Given the description of an element on the screen output the (x, y) to click on. 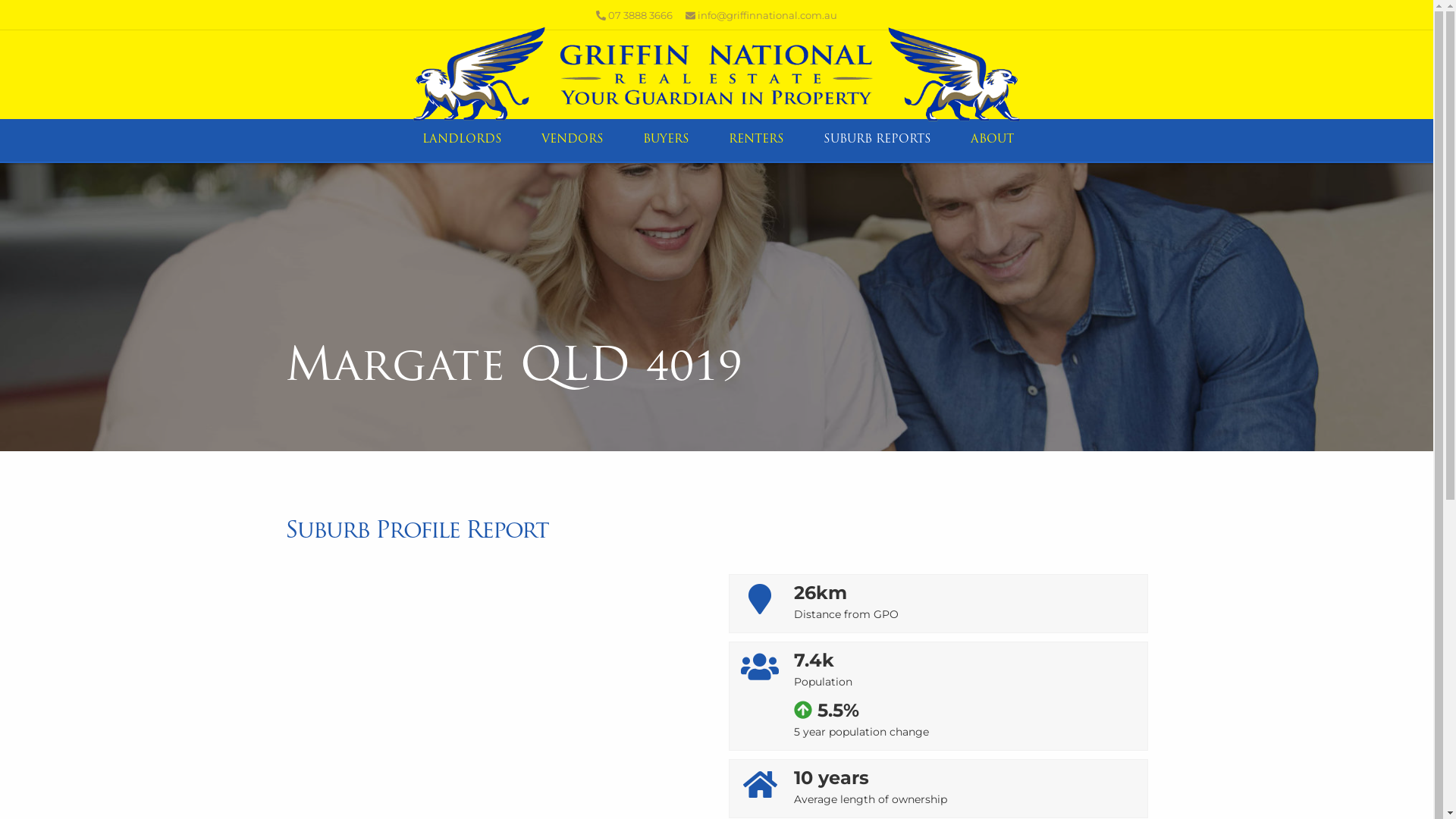
LANDLORDS Element type: text (460, 140)
info@griffinnational.com.au Element type: text (761, 15)
ABOUT Element type: text (990, 140)
RENTERS Element type: text (754, 140)
VENDORS Element type: text (570, 140)
07 3888 3666 Element type: text (634, 15)
BUYERS Element type: text (664, 140)
SUBURB REPORTS Element type: text (875, 140)
